Given the description of an element on the screen output the (x, y) to click on. 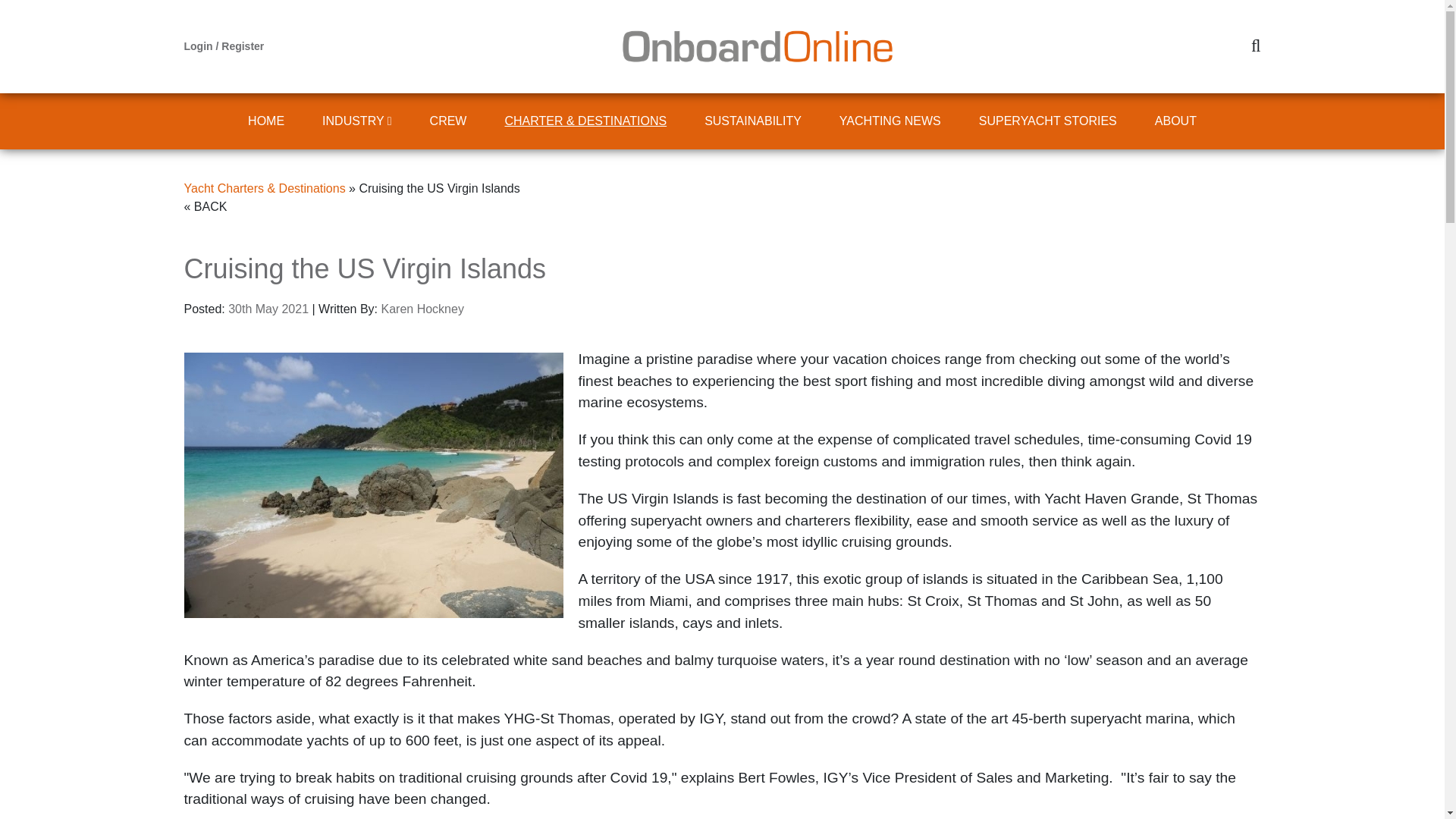
Sustainability (753, 121)
Home (265, 121)
SUSTAINABILITY (753, 121)
ABOUT (1175, 121)
Register (242, 46)
SUPERYACHT STORIES (1047, 121)
CREW (448, 121)
ABOUT (1175, 121)
register (242, 46)
Superyacht Stories (1047, 121)
